Given the description of an element on the screen output the (x, y) to click on. 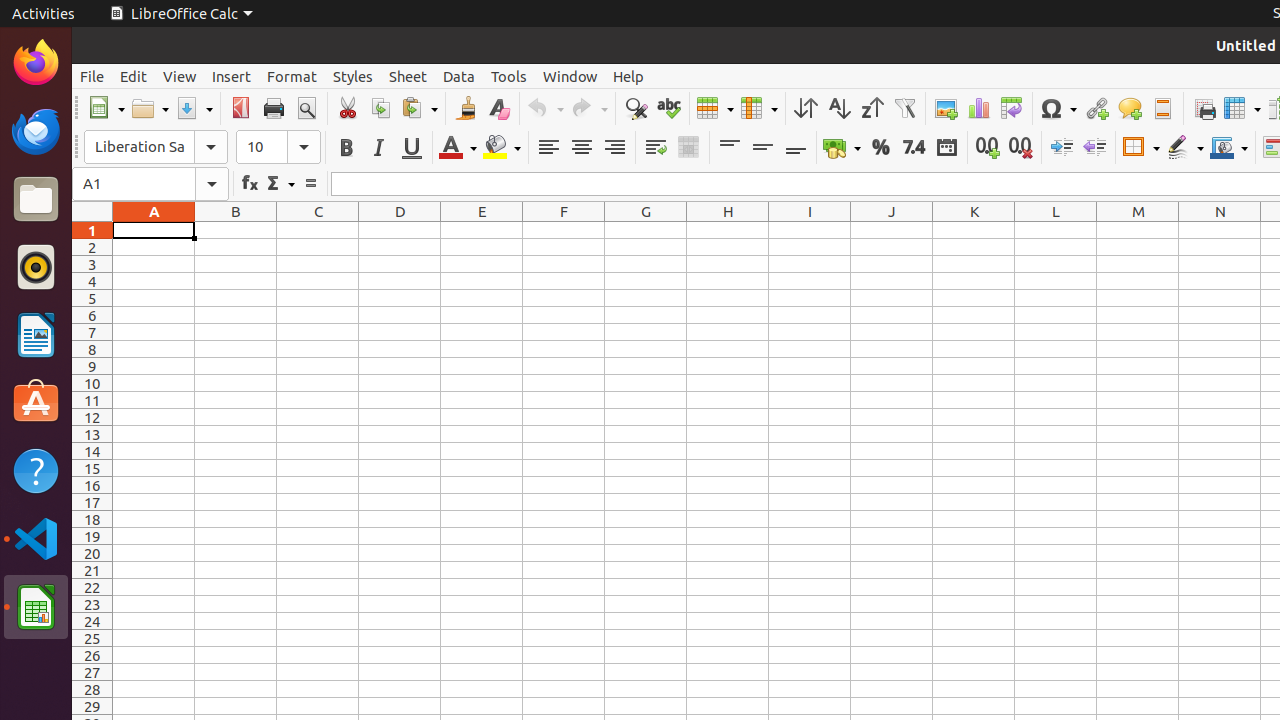
Image Element type: push-button (945, 108)
New Element type: push-button (106, 108)
G1 Element type: table-cell (646, 230)
Undo Element type: push-button (545, 108)
Clone Element type: push-button (465, 108)
